Given the description of an element on the screen output the (x, y) to click on. 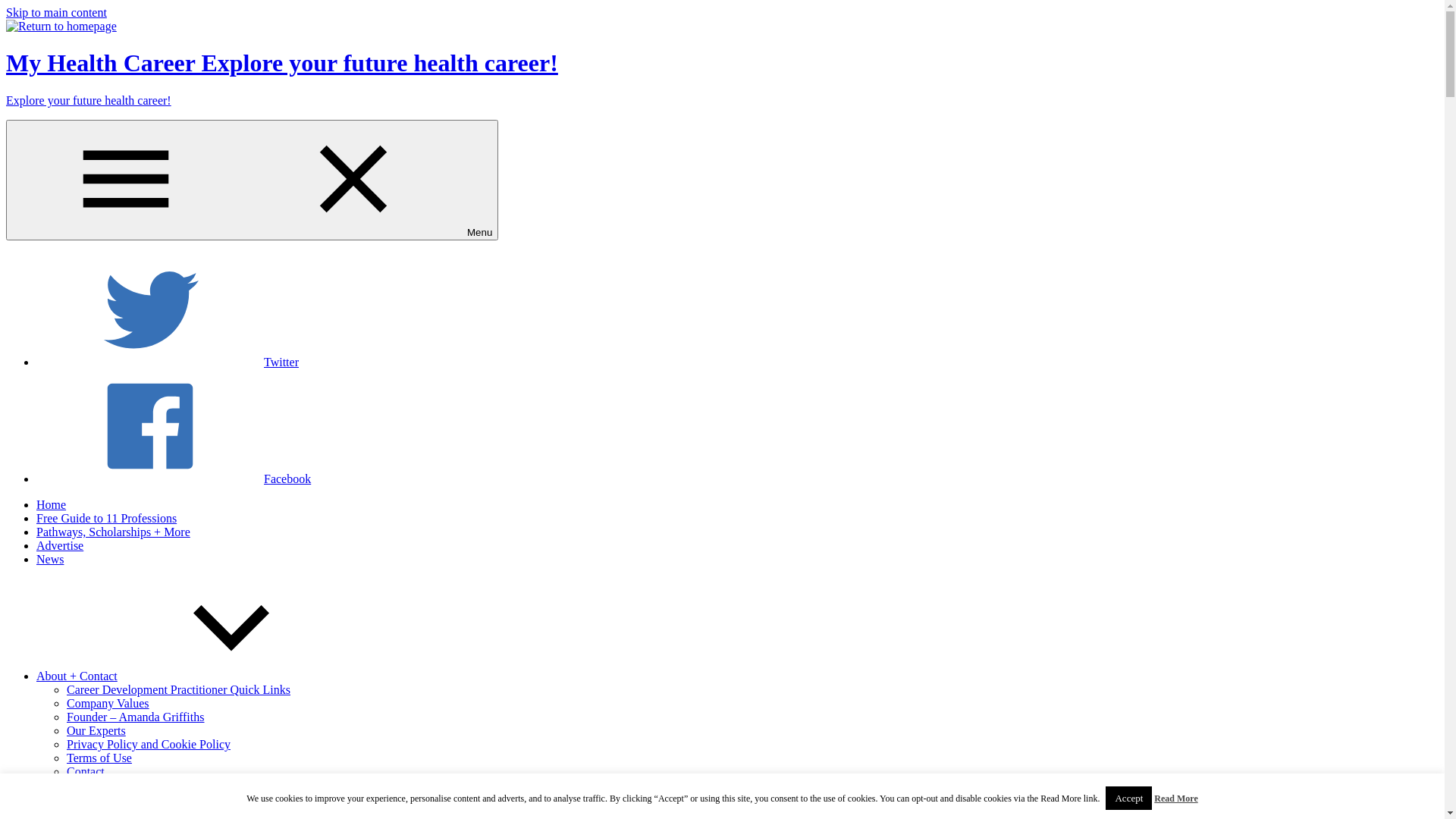
Company Values Element type: text (107, 702)
Free Guide to 11 Professions Element type: text (106, 517)
Skip to main content Element type: text (56, 12)
Twitter Element type: text (167, 361)
Menu Element type: text (252, 179)
News Element type: text (49, 558)
Accept Element type: text (1128, 797)
Terms of Use Element type: text (98, 757)
Home Element type: text (50, 504)
Read More Element type: text (1175, 798)
Pathways, Scholarships + More Element type: text (113, 531)
Contact Element type: text (85, 771)
Facebook Element type: text (173, 478)
About + Contact Element type: text (190, 675)
Advertise Element type: text (59, 545)
Privacy Policy and Cookie Policy Element type: text (148, 743)
Our Experts Element type: text (95, 730)
Career Development Practitioner Quick Links Element type: text (178, 689)
